Given the description of an element on the screen output the (x, y) to click on. 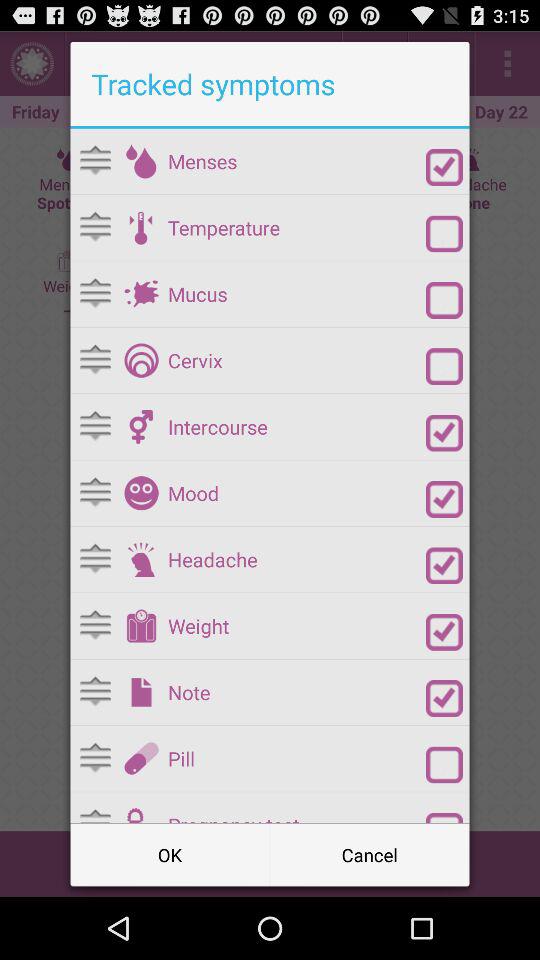
go to weight (141, 626)
